Given the description of an element on the screen output the (x, y) to click on. 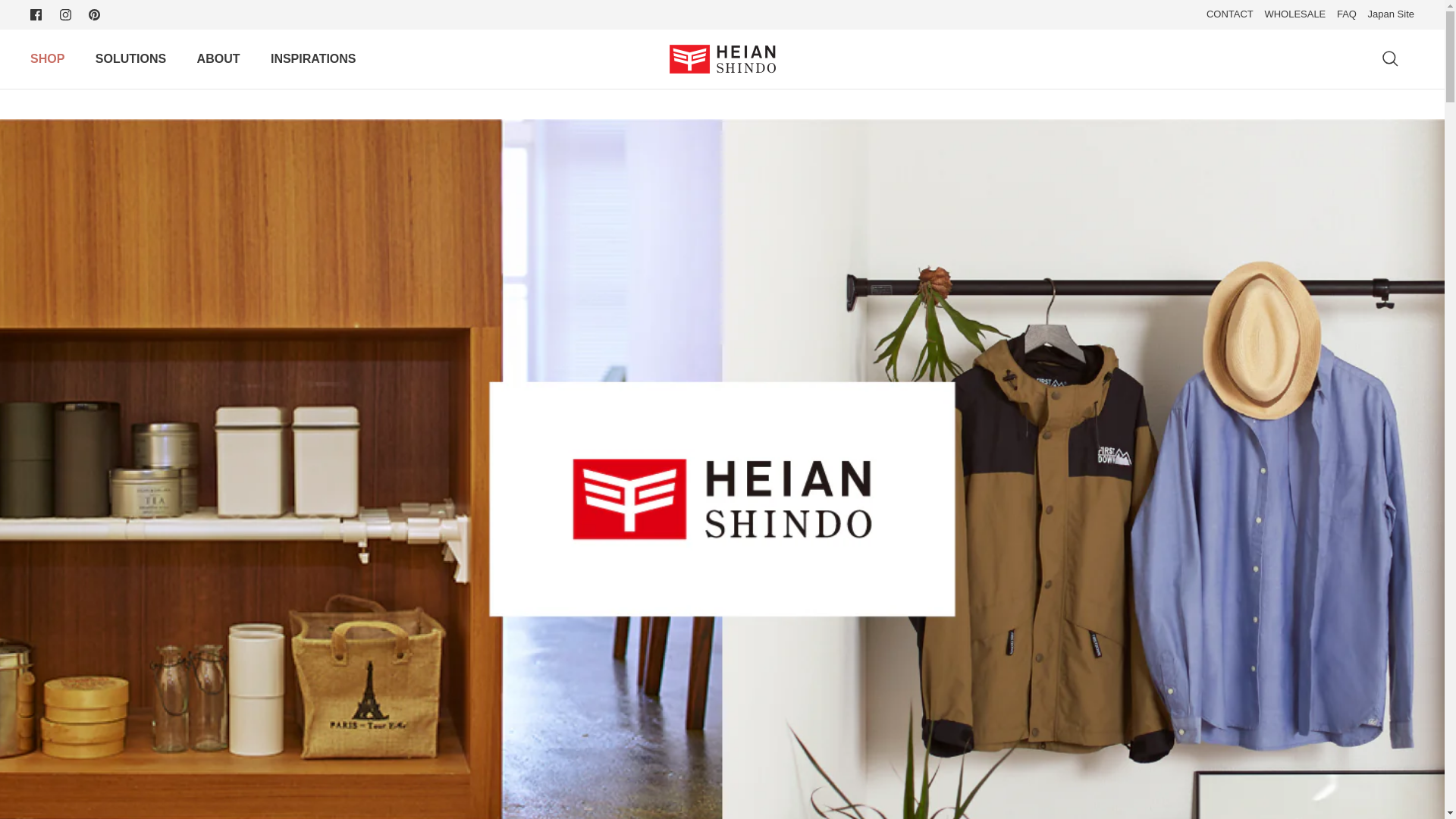
SOLUTIONS (130, 59)
Instagram (65, 14)
ABOUT (218, 59)
Search (1389, 58)
WHOLESALE (1293, 14)
INSPIRATIONS (313, 59)
CONTACT (1230, 14)
Facebook (36, 14)
SHOP (47, 59)
Heian Shindo (721, 59)
Pinterest (94, 14)
Facebook (36, 14)
Pinterest (94, 14)
Instagram (65, 14)
Japan Site (1390, 14)
